Given the description of an element on the screen output the (x, y) to click on. 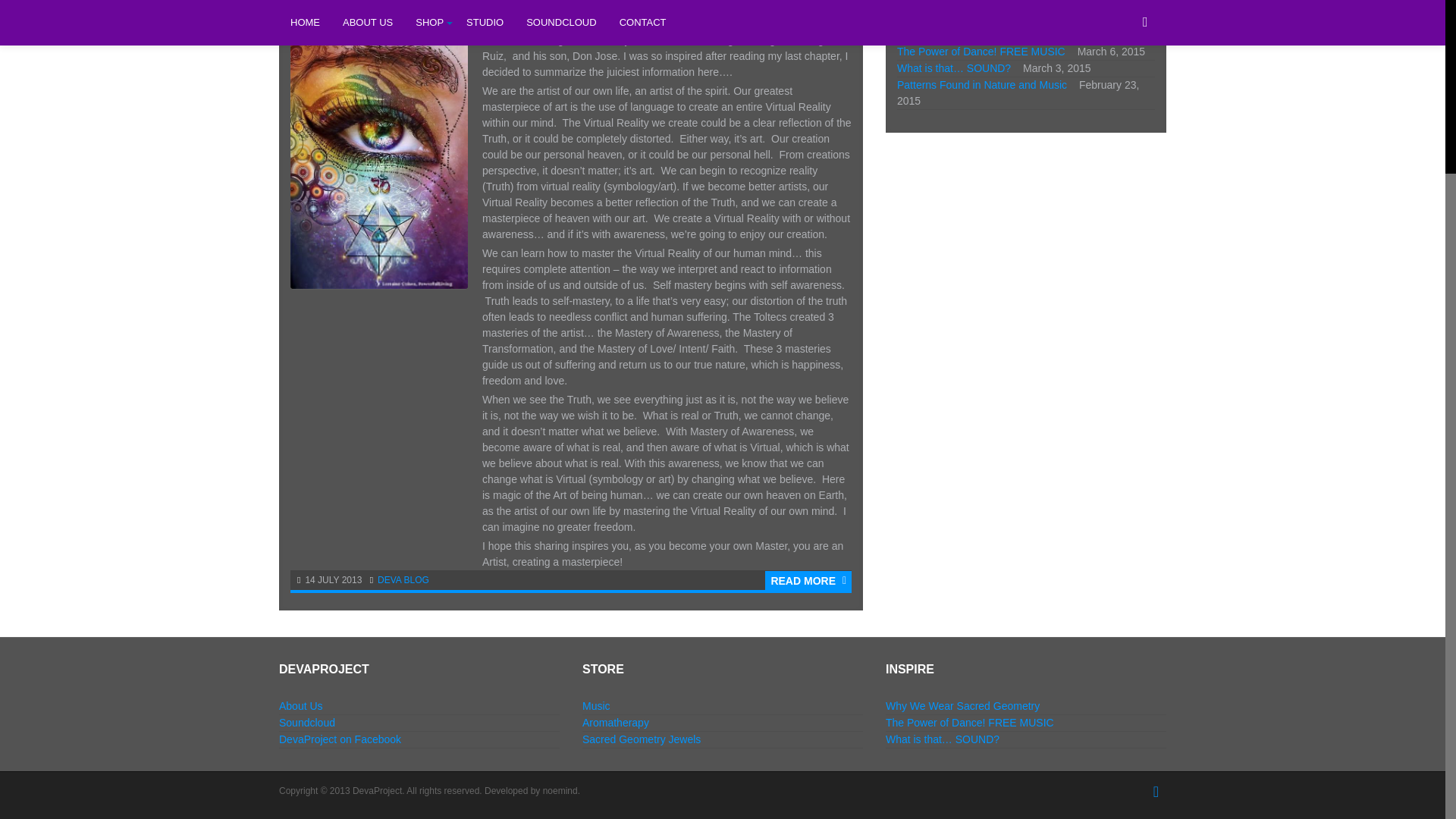
The Art of Being Human (397, 11)
Posts by deva (389, 579)
